Given the description of an element on the screen output the (x, y) to click on. 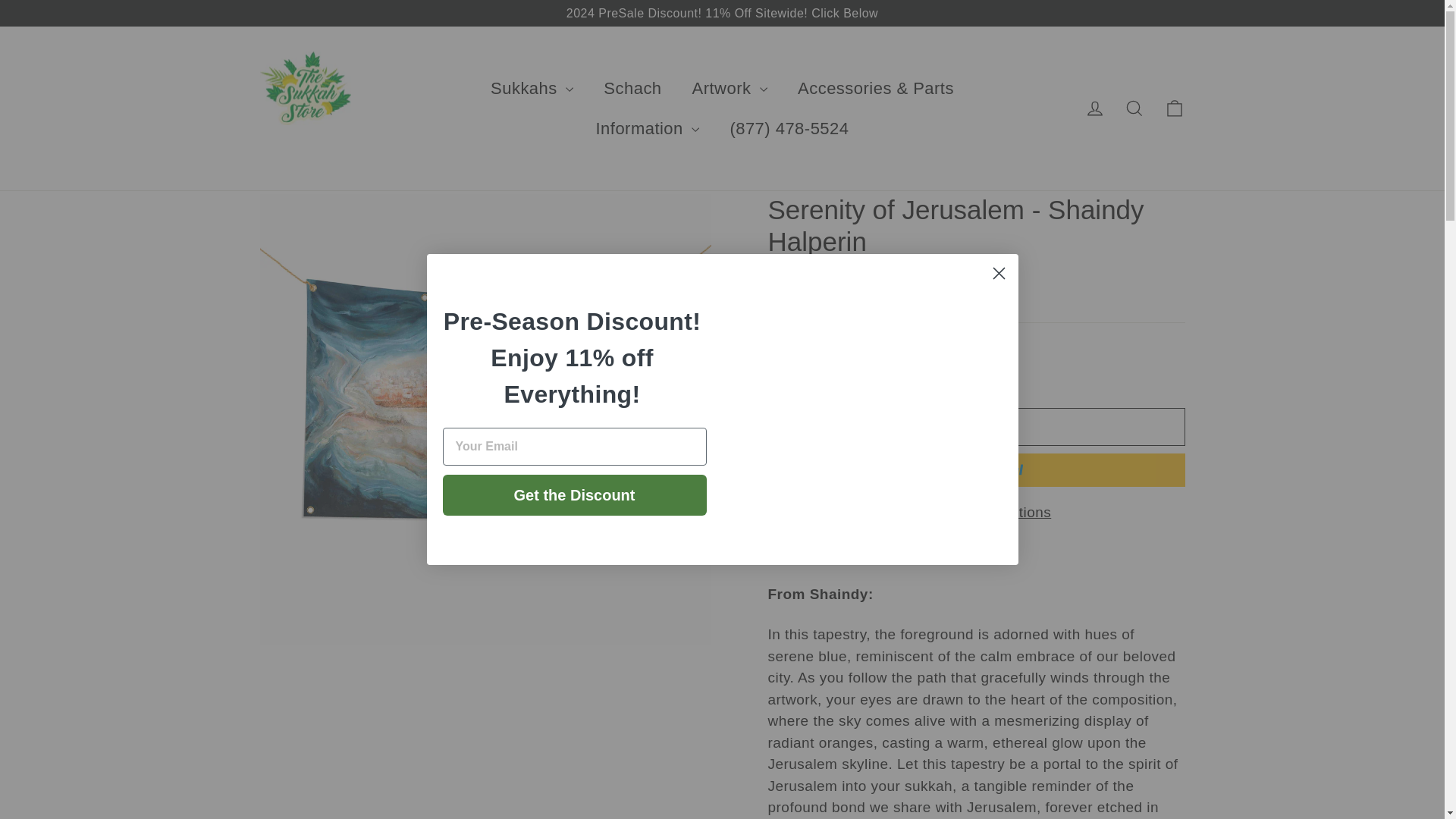
icon-bag-minimal (1174, 107)
icon-search (1134, 107)
account (1094, 107)
